Given the description of an element on the screen output the (x, y) to click on. 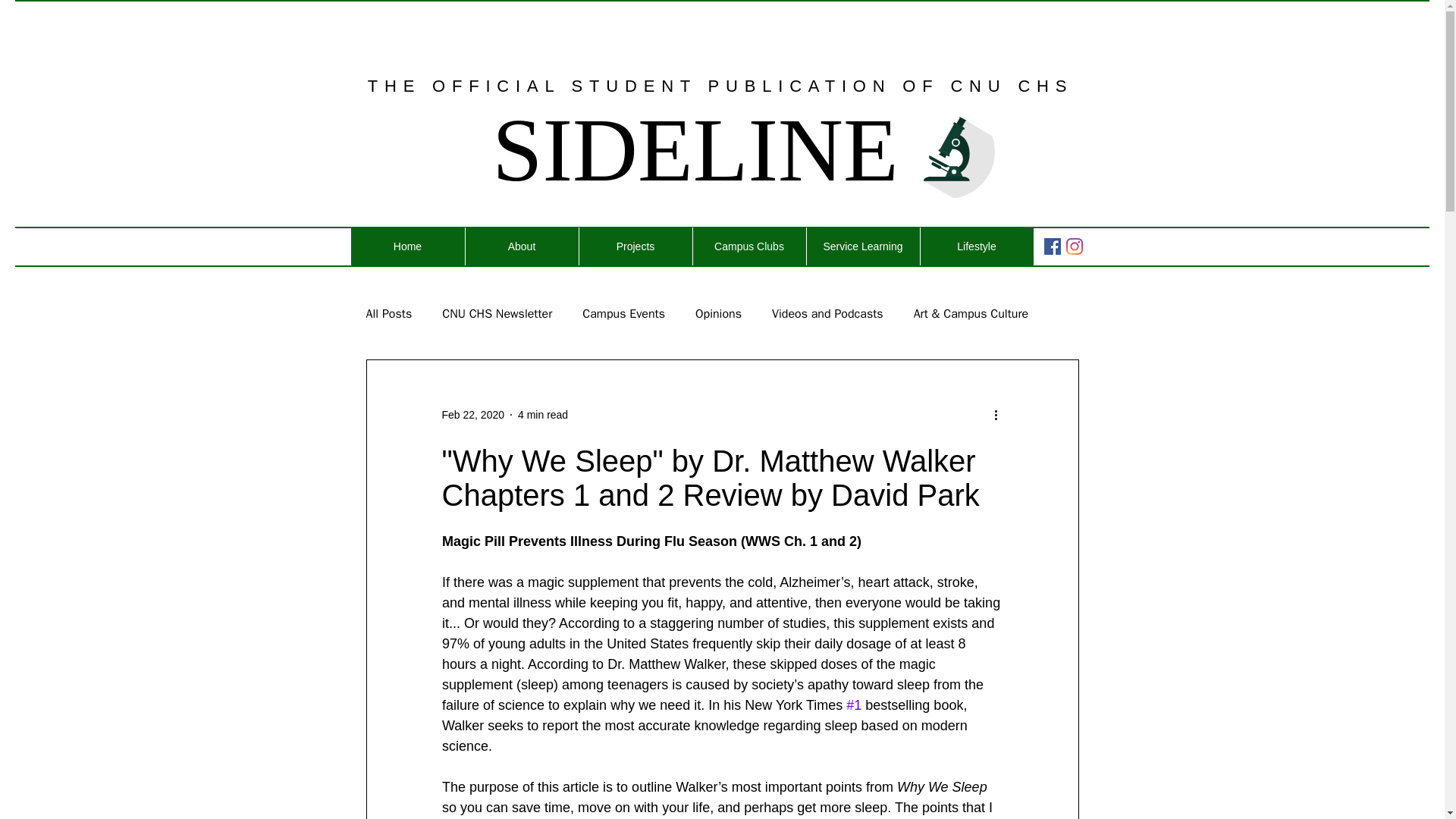
Projects (634, 246)
Campus Events (623, 314)
Campus Clubs (748, 246)
All Posts (388, 314)
Opinions (718, 314)
CNU CHS Newsletter (496, 314)
SIDELINE (694, 150)
Service Learning (861, 246)
Home (407, 246)
Videos and Podcasts (827, 314)
Feb 22, 2020 (472, 413)
About (521, 246)
4 min read (542, 413)
